Given the description of an element on the screen output the (x, y) to click on. 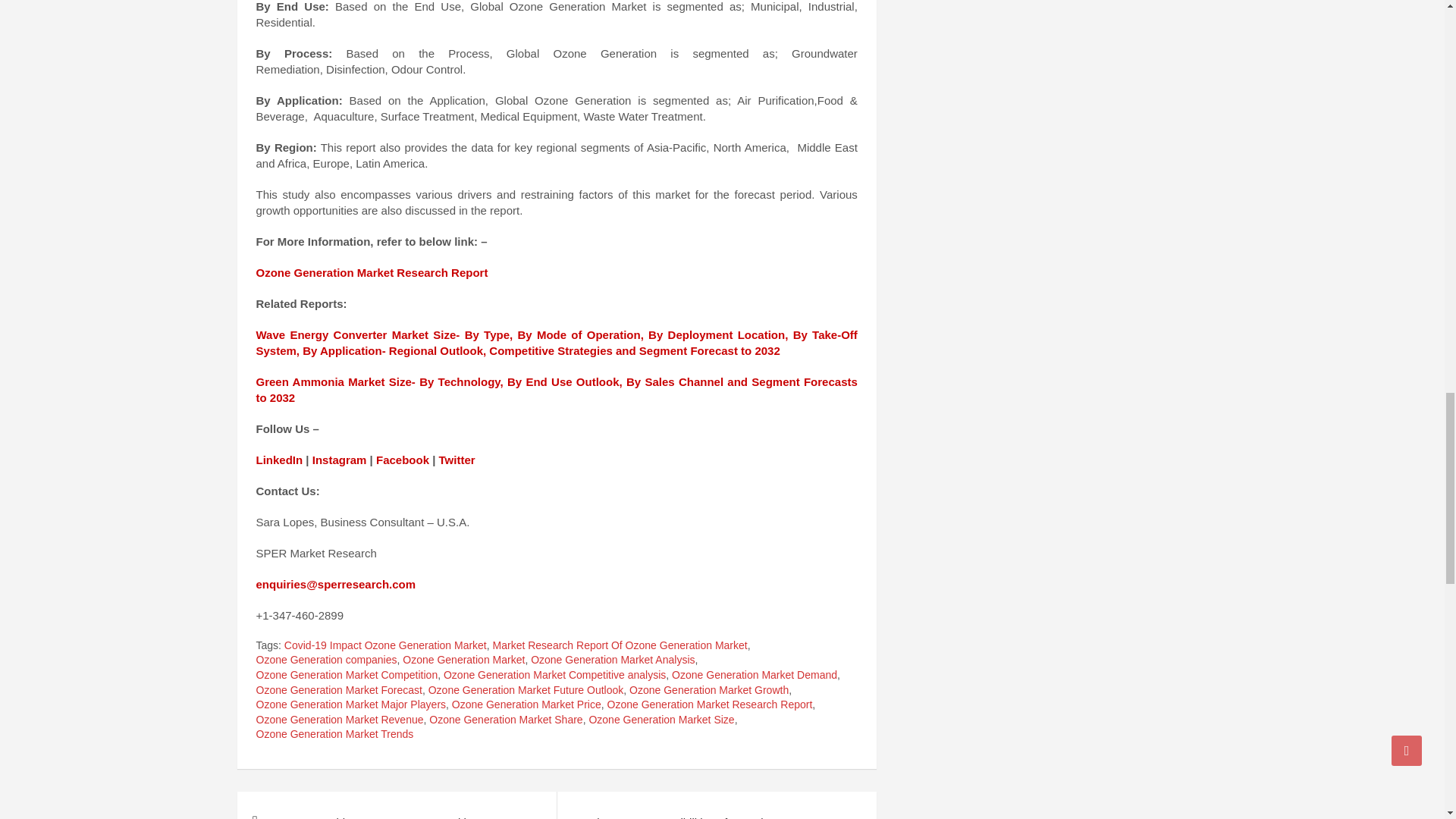
Ozone Generation Market Research Report (371, 272)
Market Research Report Of Ozone Generation Market (620, 645)
Ozone Generation companies (326, 660)
Ozone Generation Market Analysis (612, 660)
Facebook (402, 459)
Covid-19 Impact Ozone Generation Market (384, 645)
Ozone Generation Market (463, 660)
Twitter (457, 459)
Instagram (339, 459)
LinkedIn (279, 459)
